Given the description of an element on the screen output the (x, y) to click on. 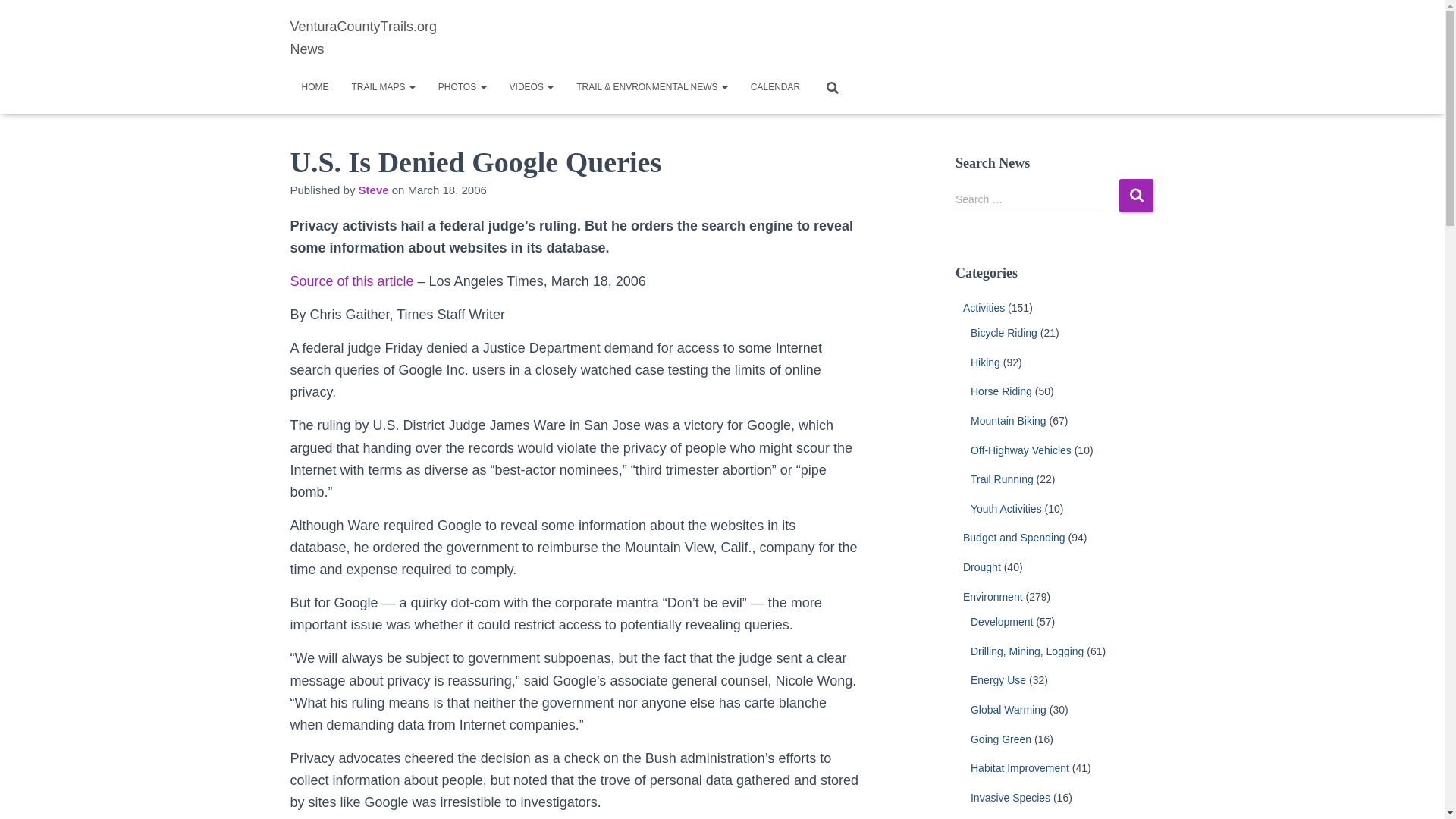
Development (1002, 621)
Environment (992, 596)
Budget and Spending (1013, 537)
Search (1136, 195)
HOME (314, 86)
VenturaCountyTrails.org News (379, 37)
Source of this article (351, 281)
Steve (373, 189)
VenturaCountyTrails.org News (379, 37)
CALENDAR (774, 86)
Photos (461, 86)
TRAIL MAPS (382, 86)
Videos (531, 86)
Search (1136, 195)
Trail Running (1002, 479)
